Given the description of an element on the screen output the (x, y) to click on. 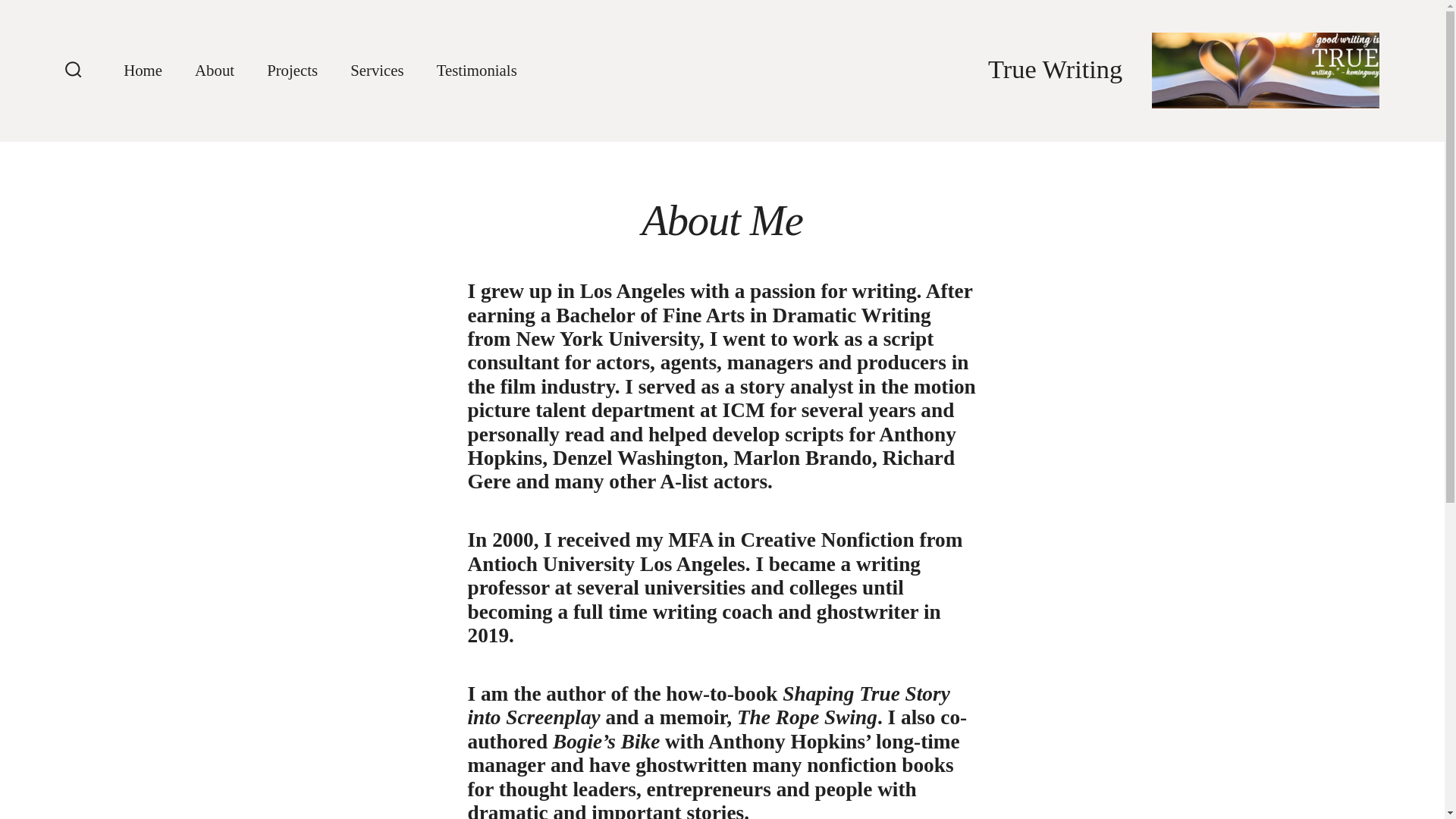
Search Toggle (73, 70)
Services (376, 70)
Projects (291, 70)
About (214, 70)
Home (142, 70)
True Writing (1069, 70)
Testimonials (476, 70)
